Given the description of an element on the screen output the (x, y) to click on. 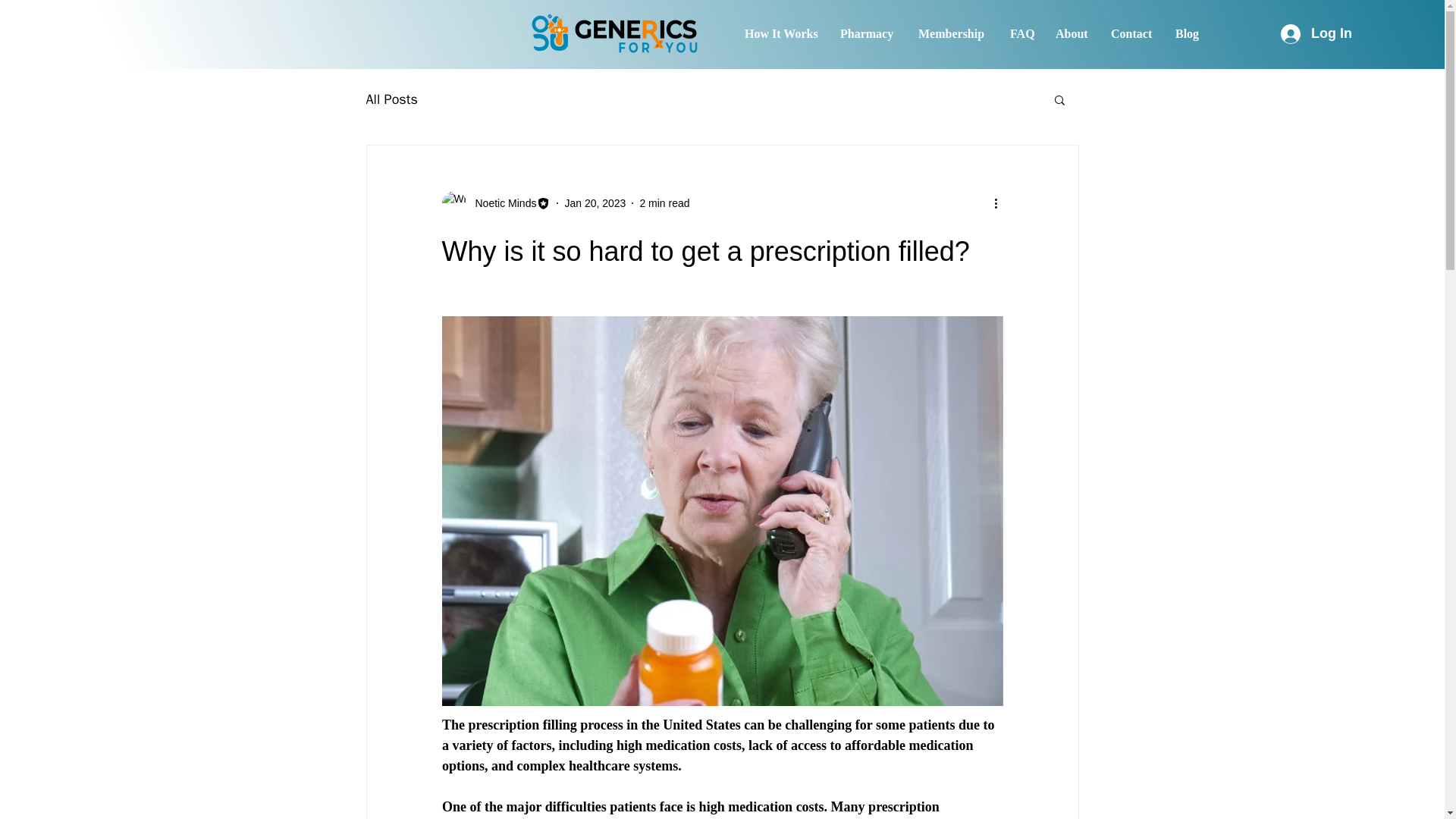
Jan 20, 2023 (595, 203)
Pharmacy (867, 34)
All Posts (390, 99)
Log In (1315, 33)
Membership (952, 34)
Blog (1187, 34)
About (1071, 34)
FAQ (1020, 34)
Noetic Minds (500, 203)
Contact (1131, 34)
Noetic Minds (495, 202)
How It Works (780, 34)
2 min read (663, 203)
